Given the description of an element on the screen output the (x, y) to click on. 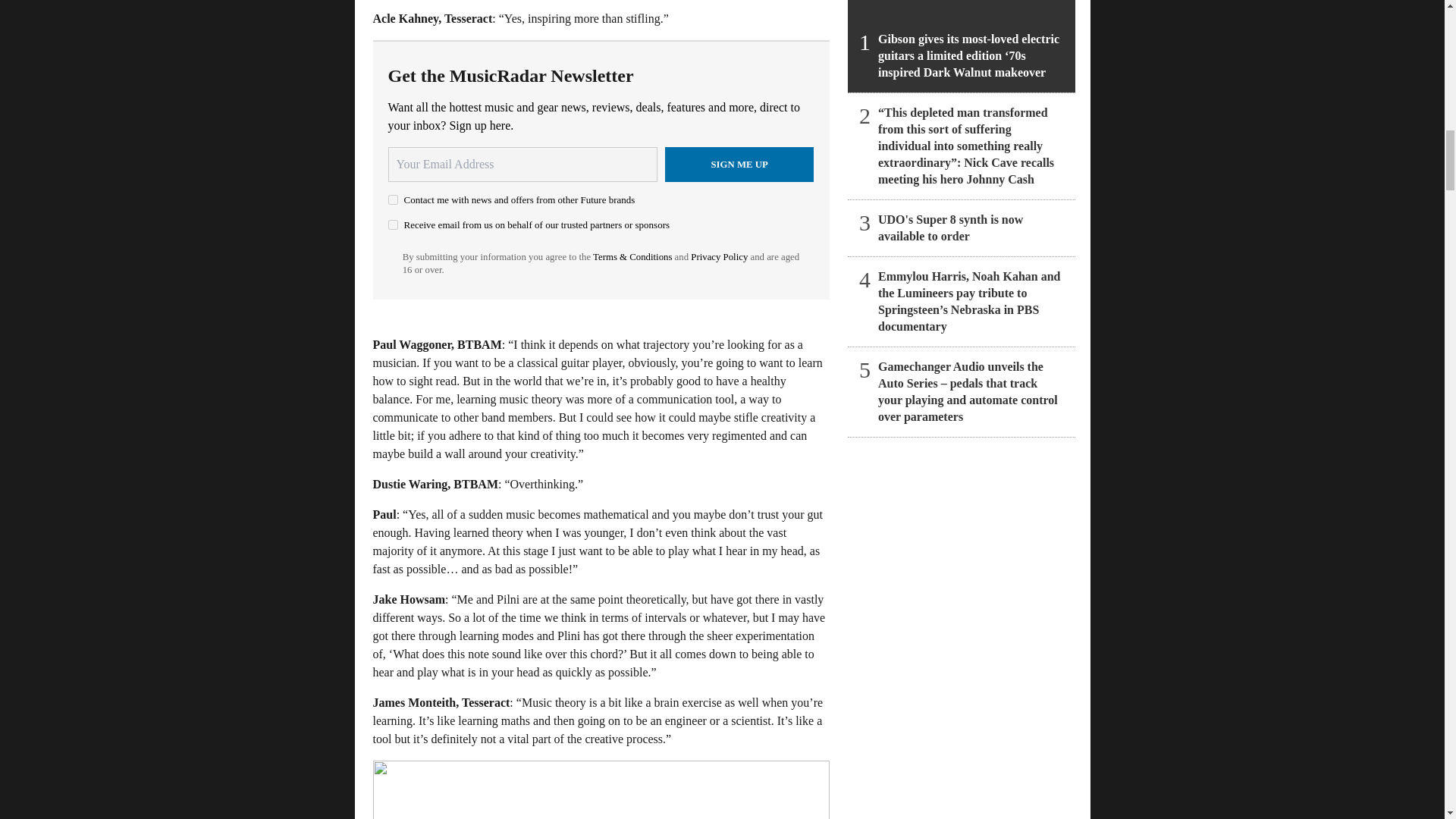
Sign me up (739, 164)
on (392, 225)
on (392, 199)
